Given the description of an element on the screen output the (x, y) to click on. 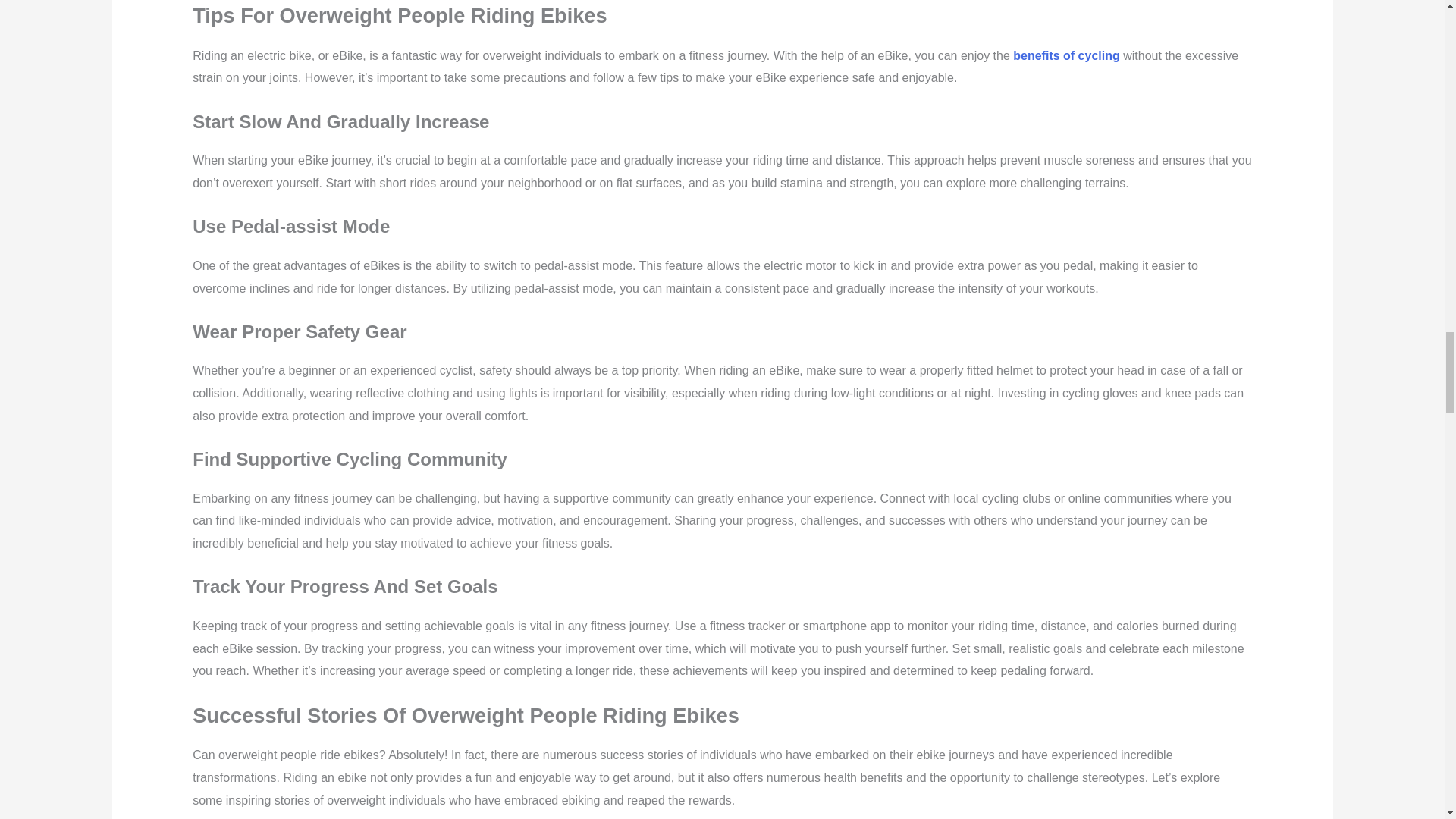
benefits of cycling (1066, 55)
